Given the description of an element on the screen output the (x, y) to click on. 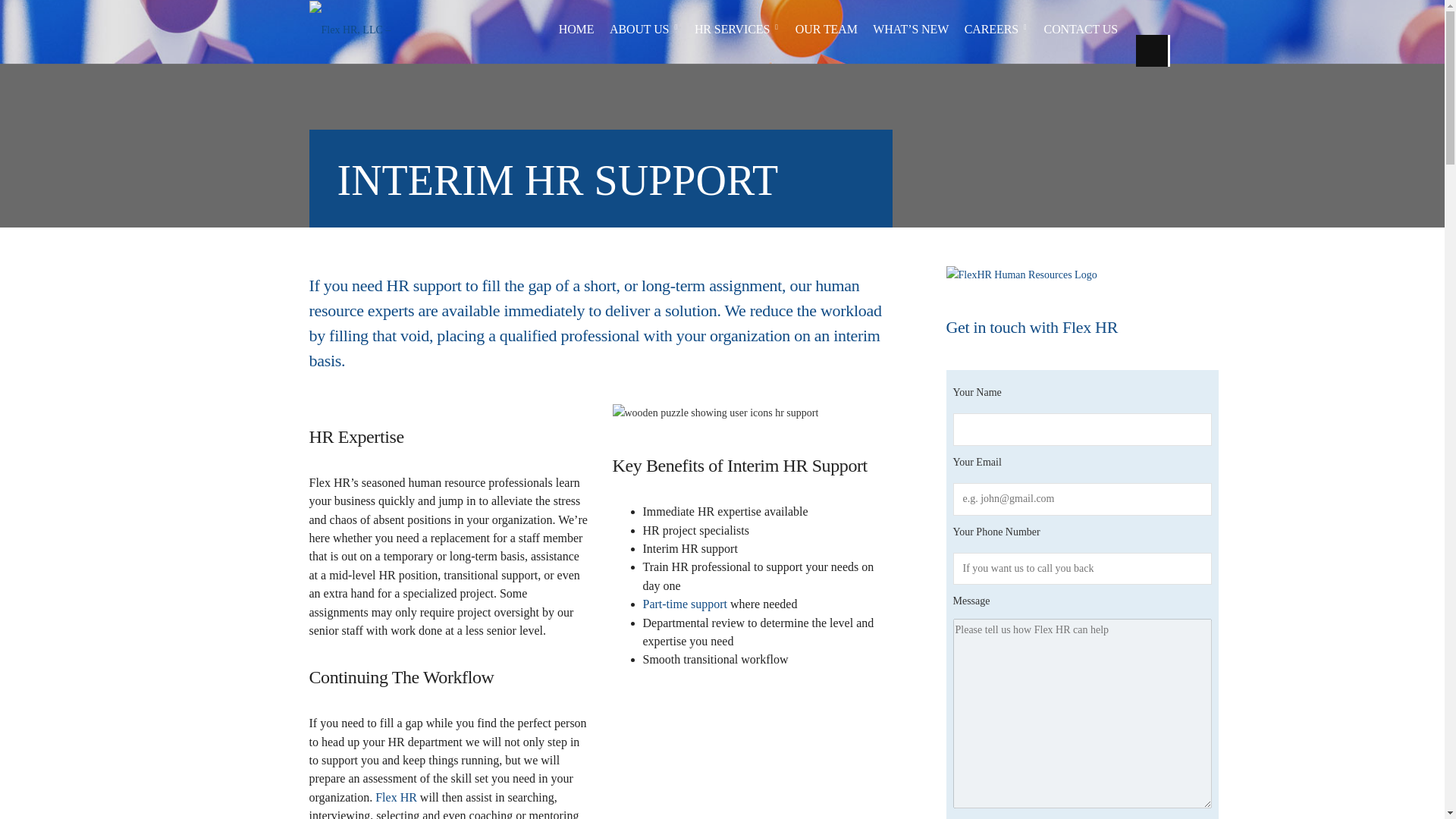
HR SERVICES (736, 29)
Part-Time Leadership Support by Flex HR (685, 603)
Interim HR support professionals puzzle (715, 413)
Flex HR Human Resources Consulting in Atlanta (395, 797)
ABOUT US (644, 29)
